Given the description of an element on the screen output the (x, y) to click on. 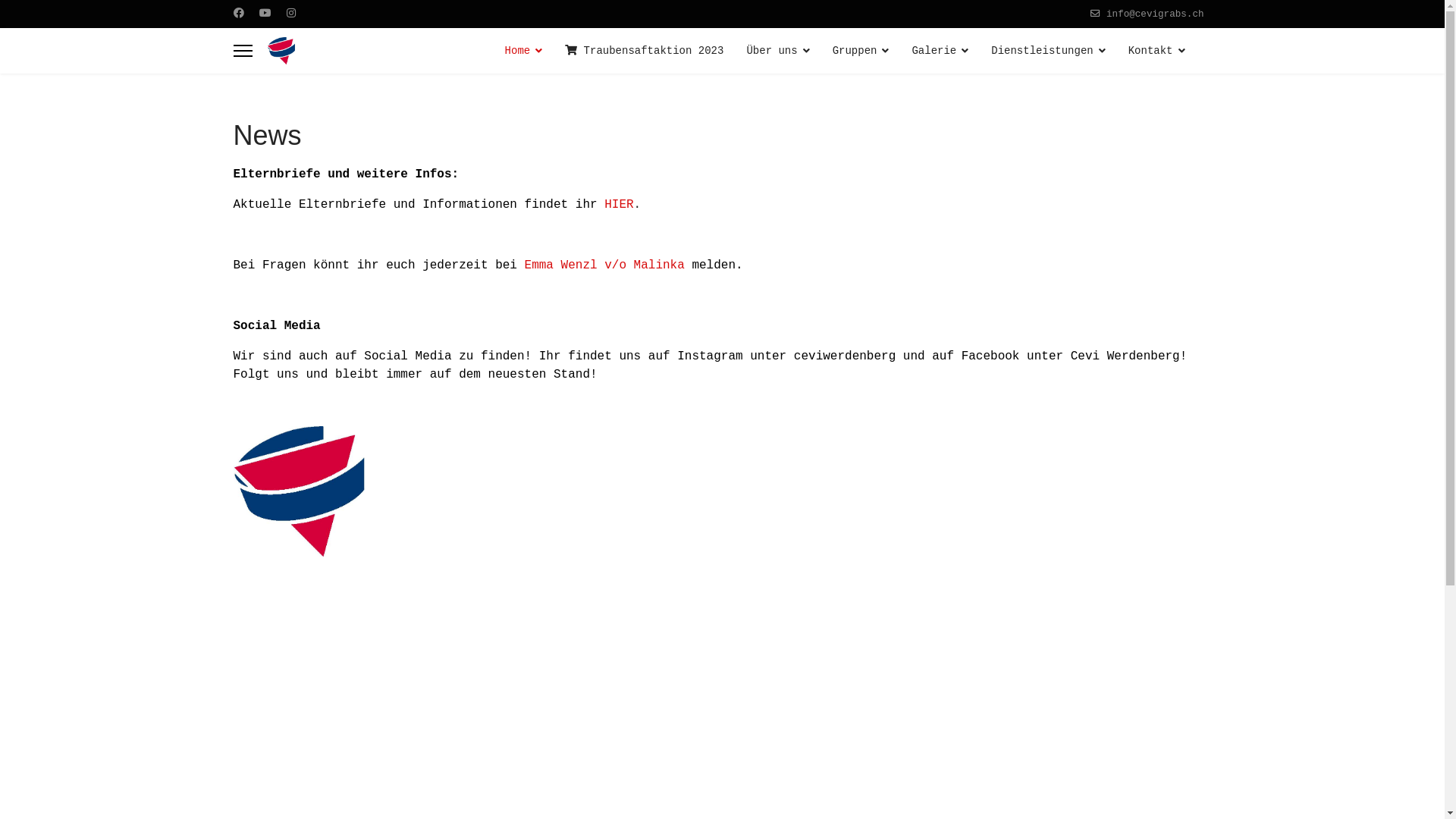
HIER Element type: text (618, 204)
Traubensaftaktion 2023 Element type: text (643, 50)
Home Element type: text (523, 50)
Gruppen Element type: text (860, 50)
Dienstleistungen Element type: text (1047, 50)
Menu Element type: hover (242, 50)
info@cevigrabs.ch Element type: text (1154, 14)
Emma Wenzl v/o Malinka Element type: text (604, 265)
Galerie Element type: text (939, 50)
Kontakt Element type: text (1156, 50)
